Given the description of an element on the screen output the (x, y) to click on. 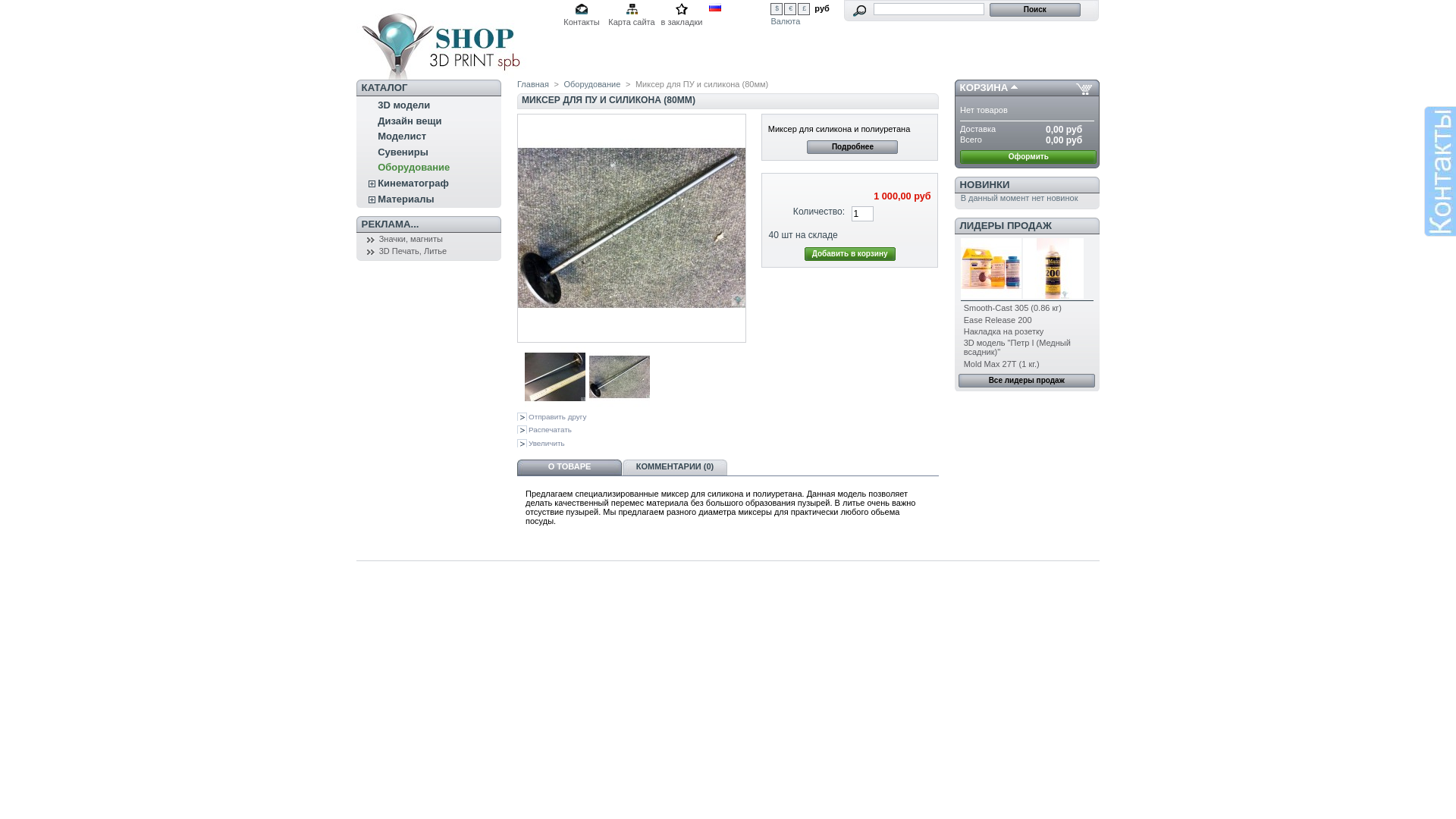
$ Element type: text (776, 8)
3D.SHOP Element type: hover (456, 39)
Ease Release 200 Element type: text (997, 319)
